Given the description of an element on the screen output the (x, y) to click on. 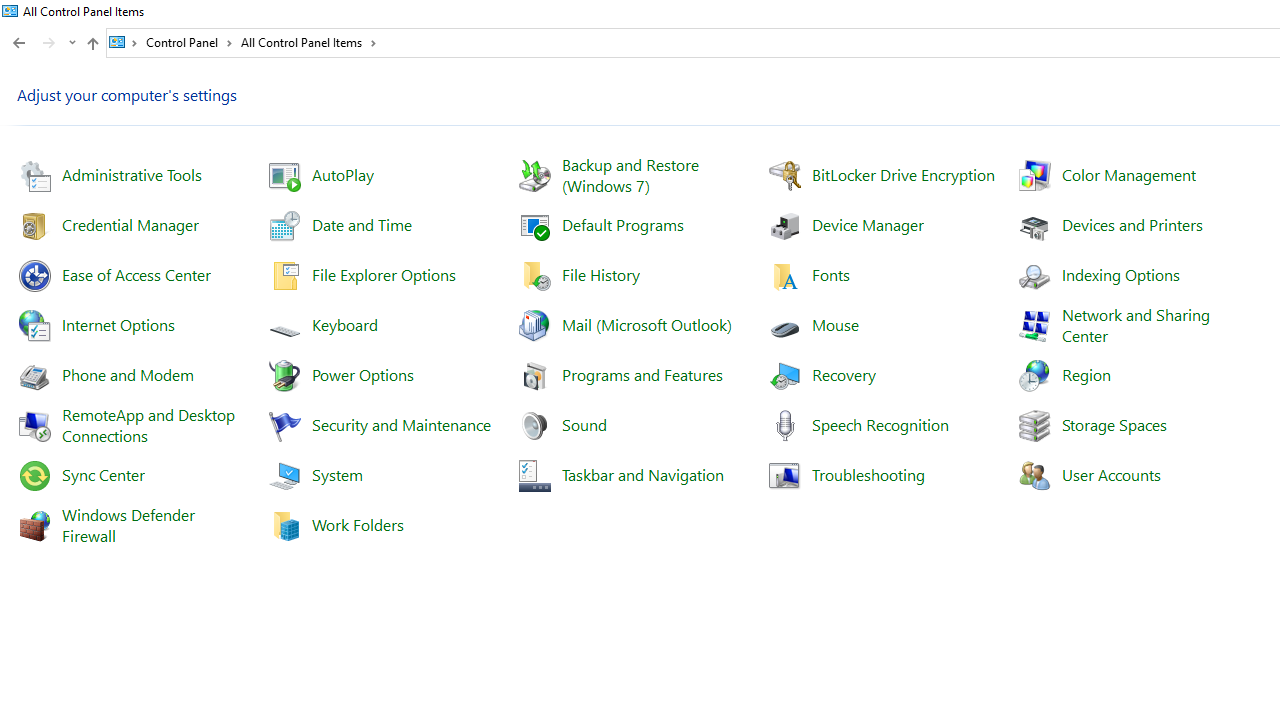
Work Folders (357, 524)
Default Programs (623, 223)
Devices and Printers (1131, 223)
Up to "Control Panel" (Alt + Up Arrow) (92, 43)
File Explorer Options (383, 274)
Troubleshooting (868, 474)
All locations (124, 42)
Mouse (835, 323)
AutoPlay (342, 174)
Icon (1032, 474)
Control Panel (189, 42)
Color Management (1128, 174)
Back to Control Panel (Alt + Left Arrow) (18, 43)
Indexing Options (1120, 274)
Fonts (831, 274)
